Given the description of an element on the screen output the (x, y) to click on. 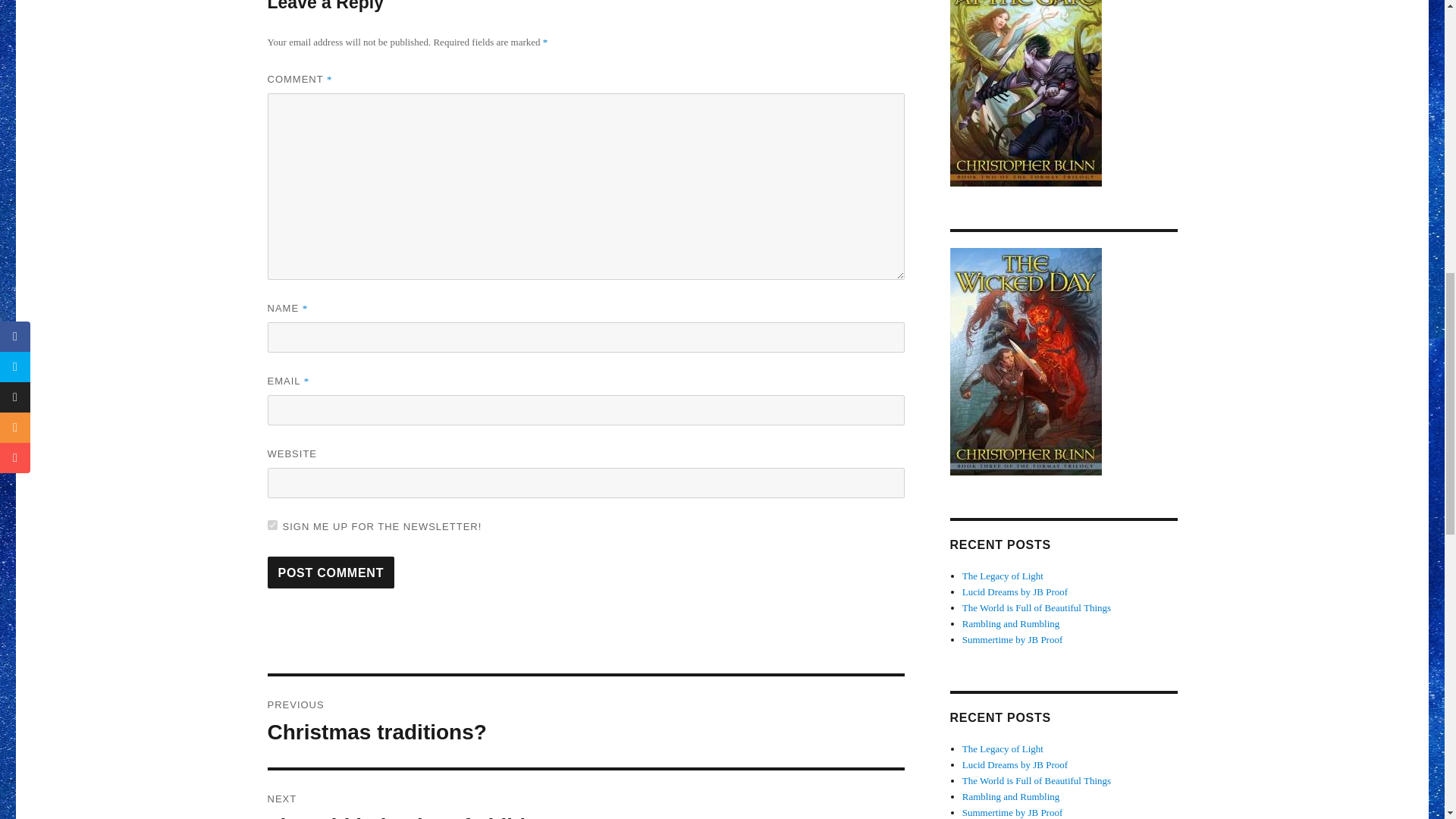
Post Comment (330, 572)
Post Comment (585, 721)
1 (585, 794)
